Given the description of an element on the screen output the (x, y) to click on. 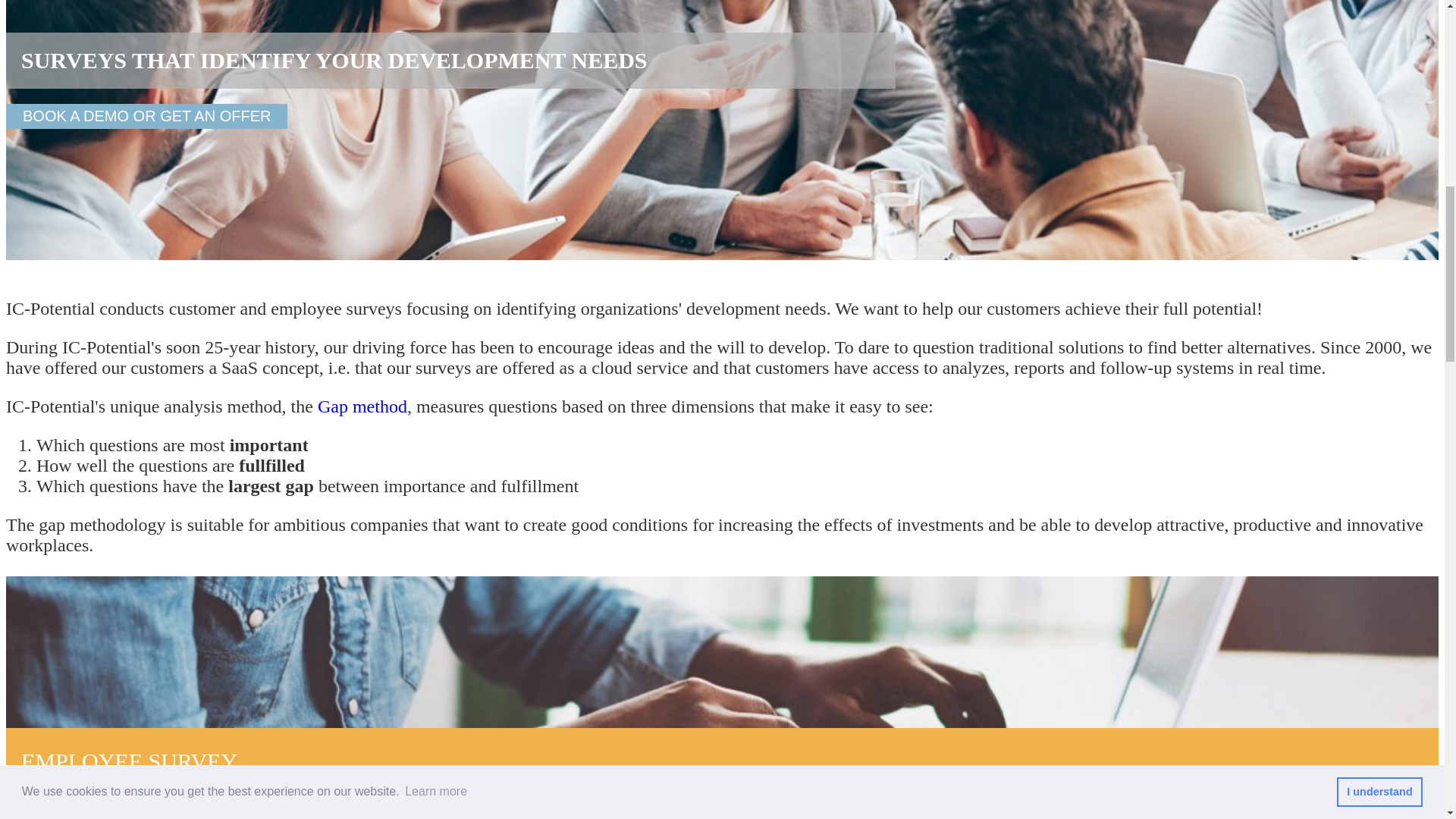
BOOK A DEMO OR GET AN OFFER (145, 116)
Gap method (362, 406)
BOOK A DEMO OR GET AN OFFER (145, 116)
EMPLOYEE SURVEY (722, 778)
